Given the description of an element on the screen output the (x, y) to click on. 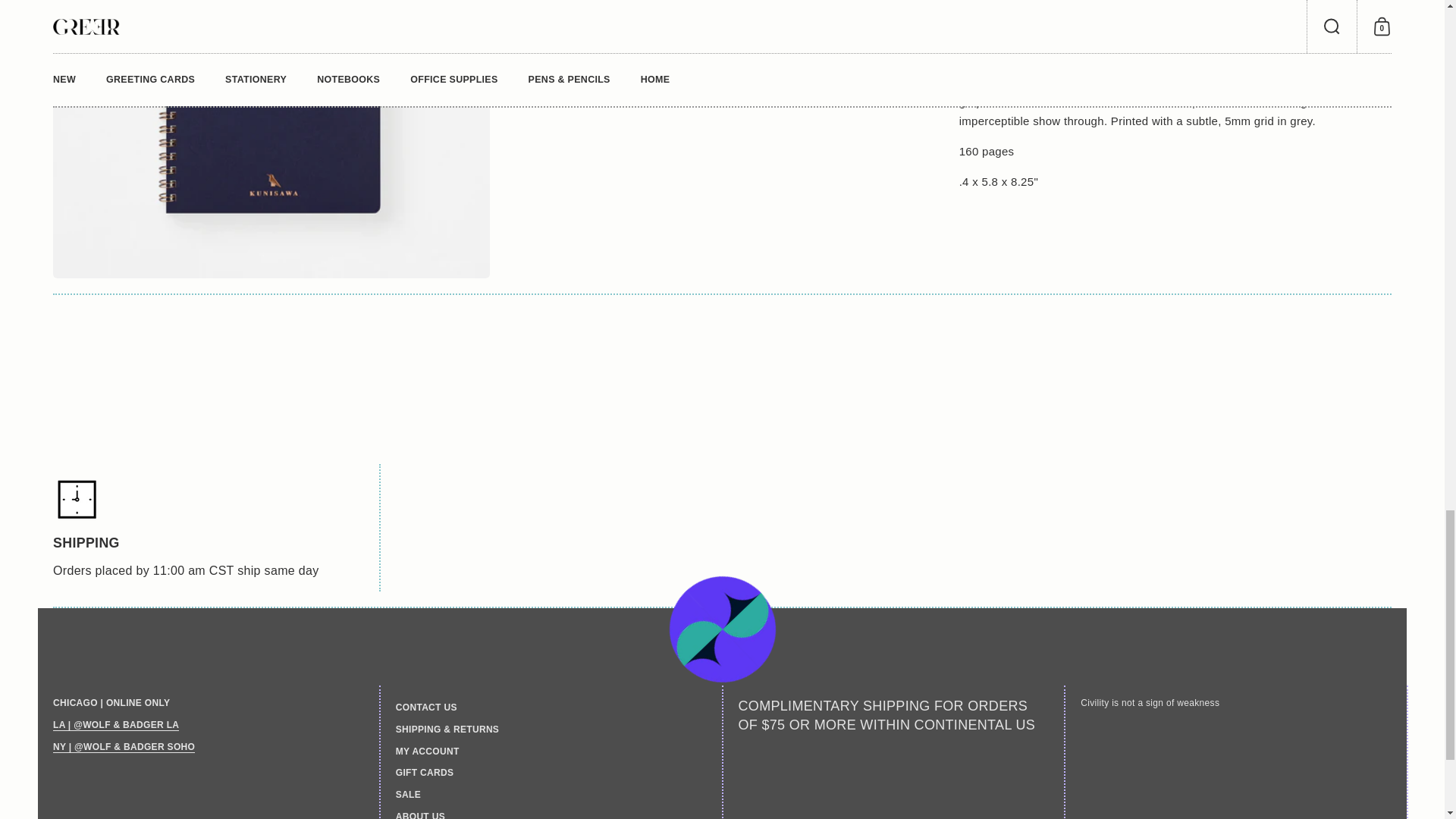
About Us (115, 725)
About Us (123, 747)
